Given the description of an element on the screen output the (x, y) to click on. 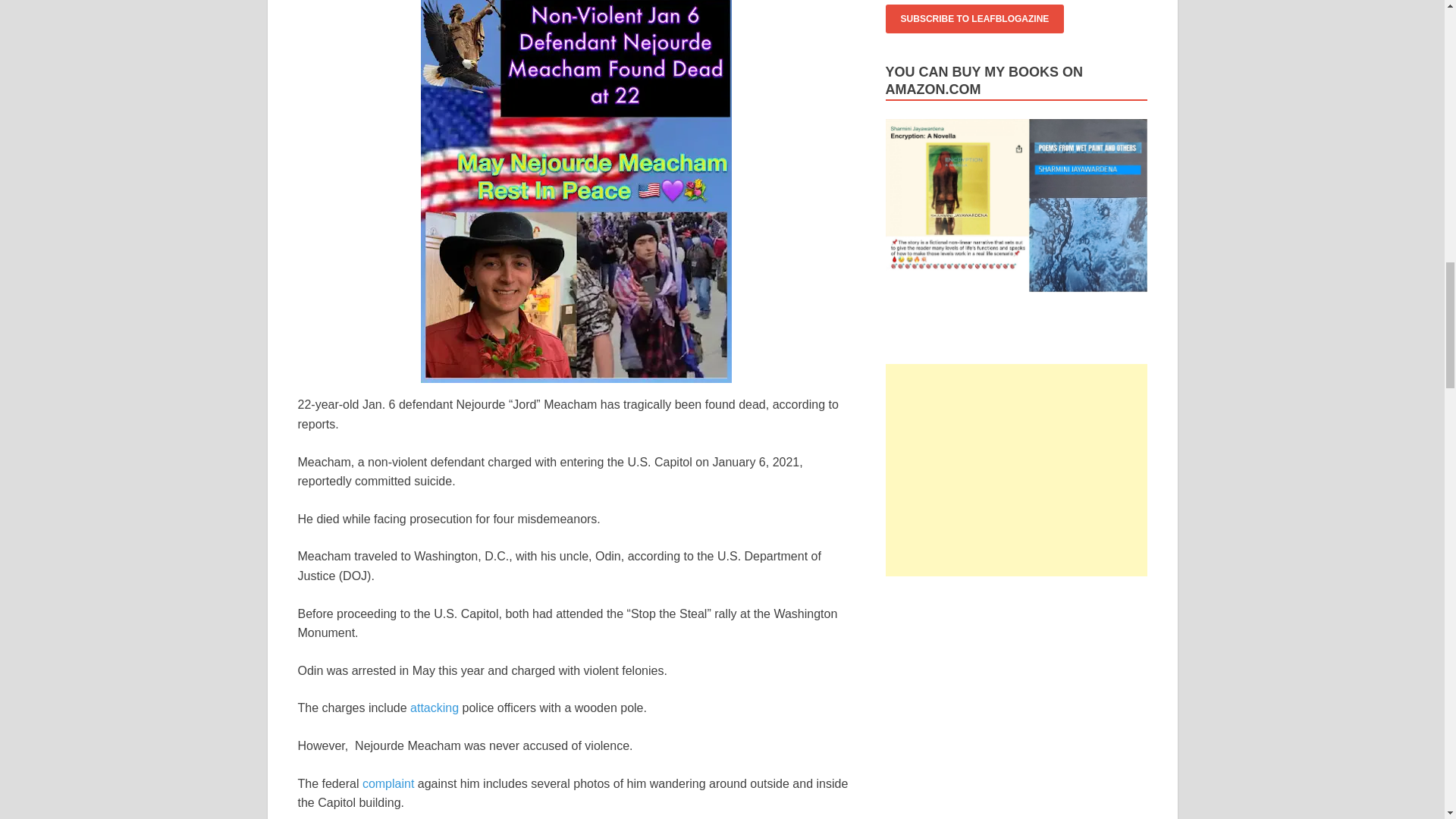
complaint (387, 783)
attacking (434, 707)
Subscribe To LeafBlogazine (974, 18)
